Given the description of an element on the screen output the (x, y) to click on. 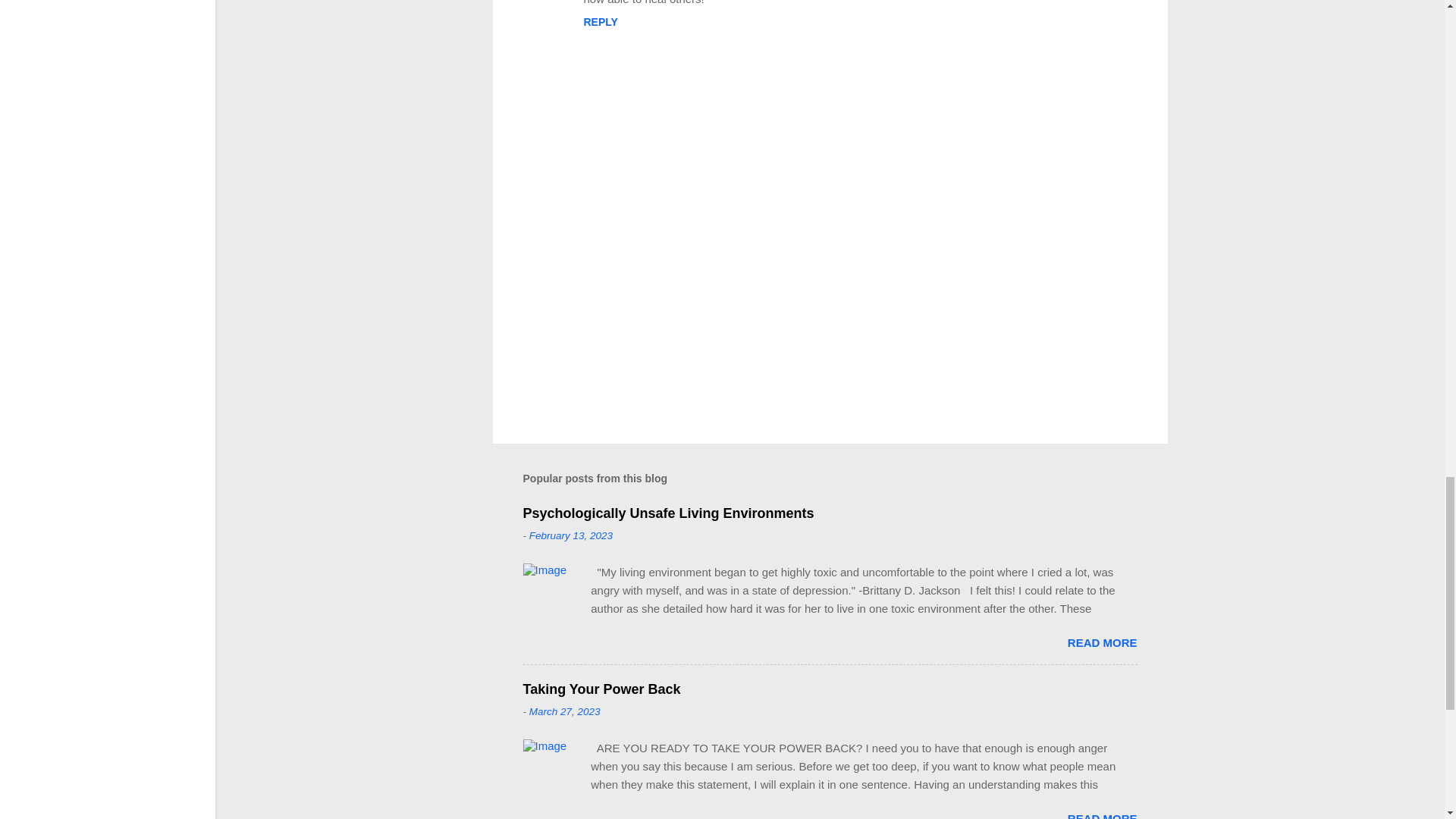
Psychologically Unsafe Living Environments (667, 513)
permanent link (570, 535)
February 13, 2023 (570, 535)
REPLY (600, 21)
